Given the description of an element on the screen output the (x, y) to click on. 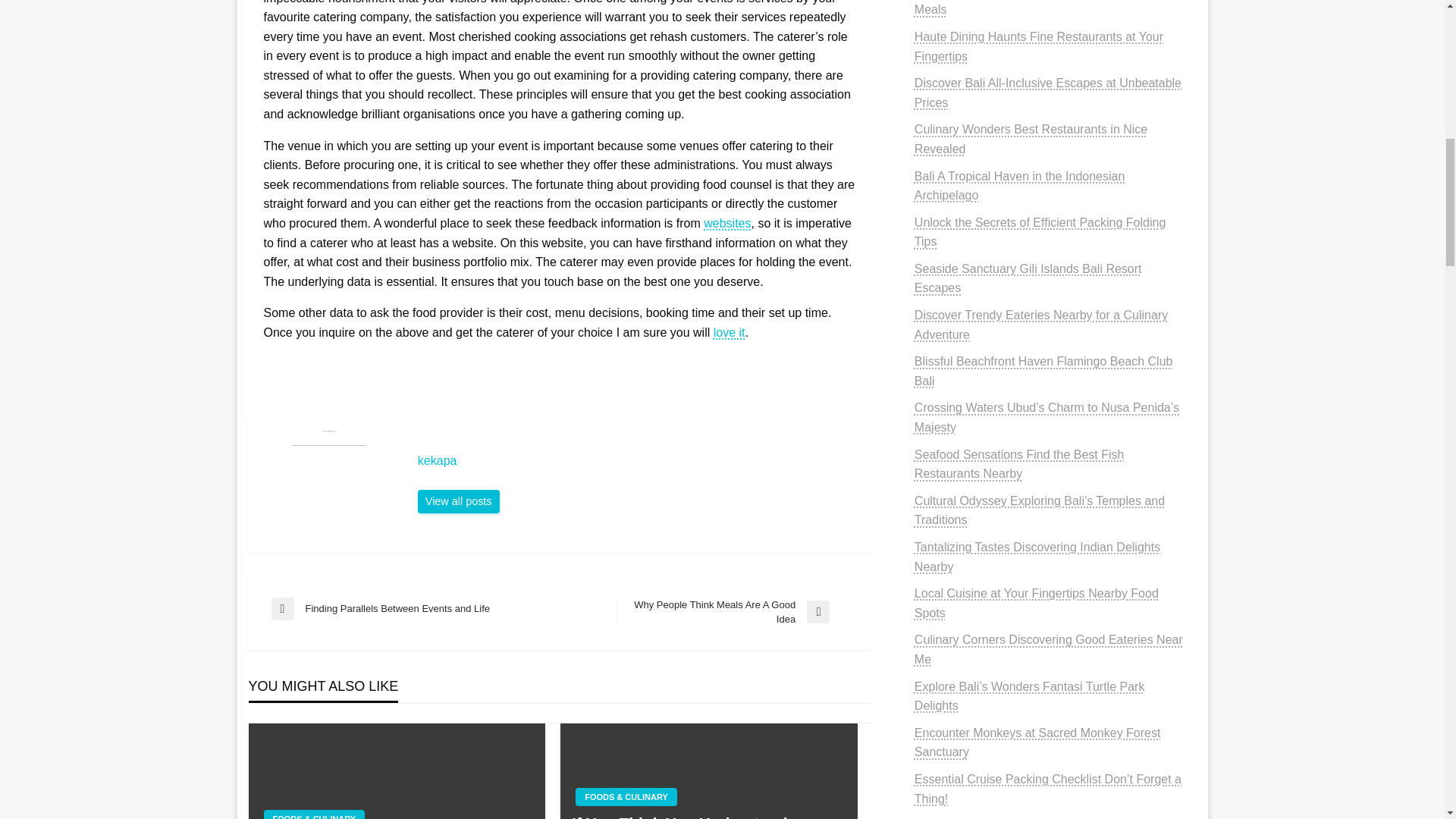
kekapa (458, 501)
kekapa (637, 460)
